Given the description of an element on the screen output the (x, y) to click on. 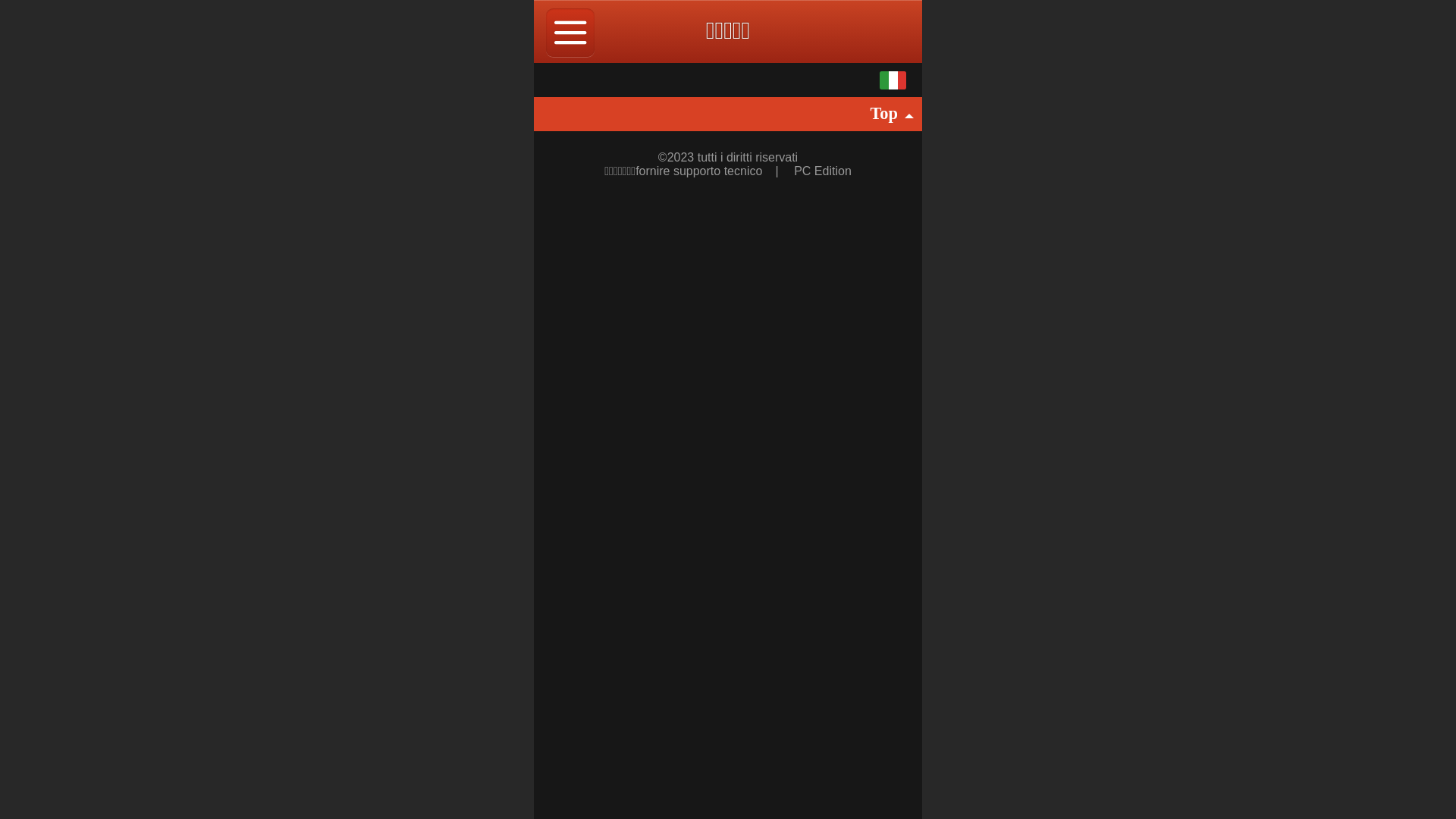
PC Edition Element type: text (822, 170)
